Given the description of an element on the screen output the (x, y) to click on. 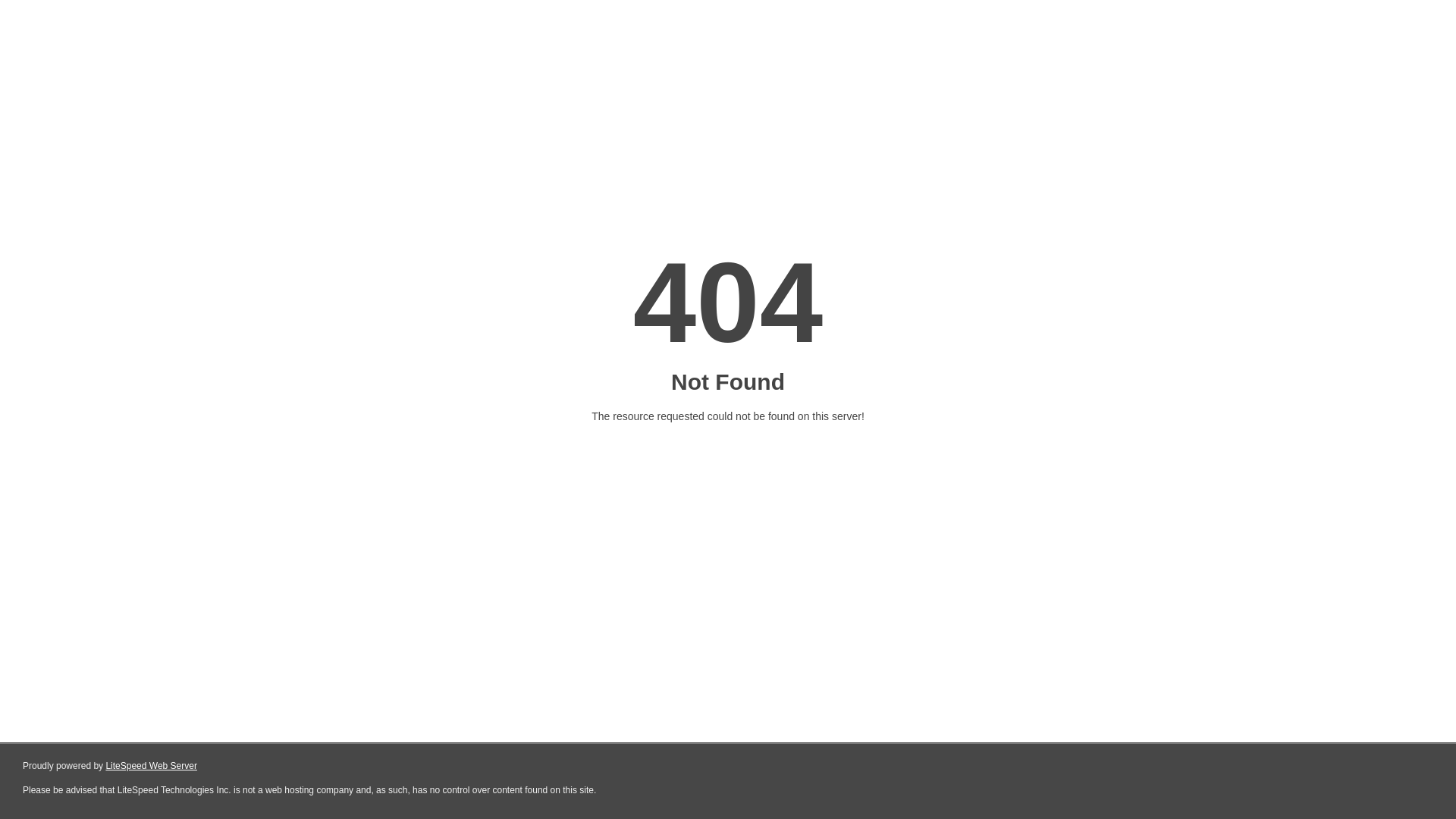
LiteSpeed Web Server Element type: text (151, 765)
